Given the description of an element on the screen output the (x, y) to click on. 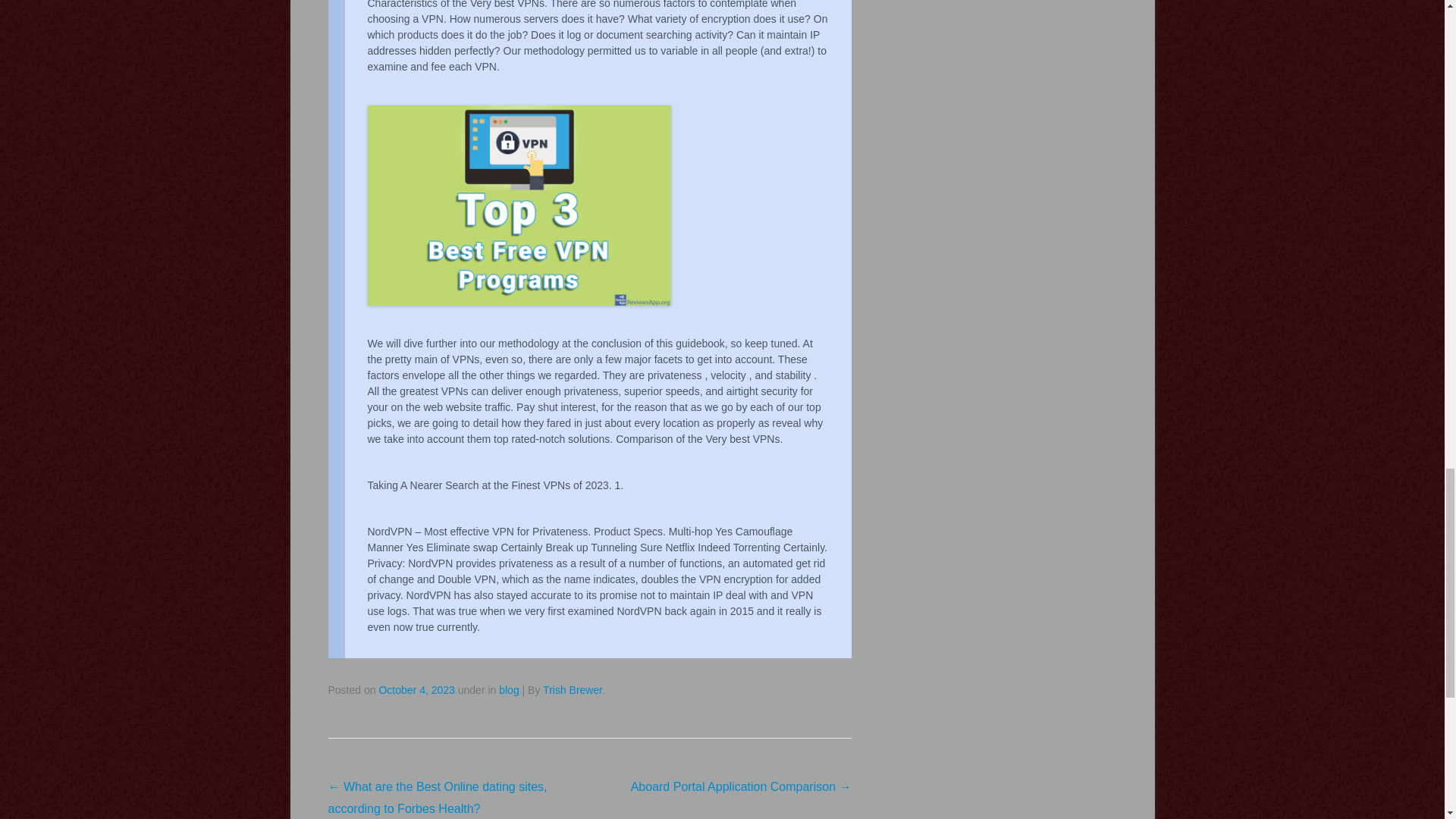
October 4, 2023 (416, 689)
8:00 pm (416, 689)
Trish Brewer (572, 689)
View all posts by Trish Brewer (572, 689)
blog (508, 689)
